Given the description of an element on the screen output the (x, y) to click on. 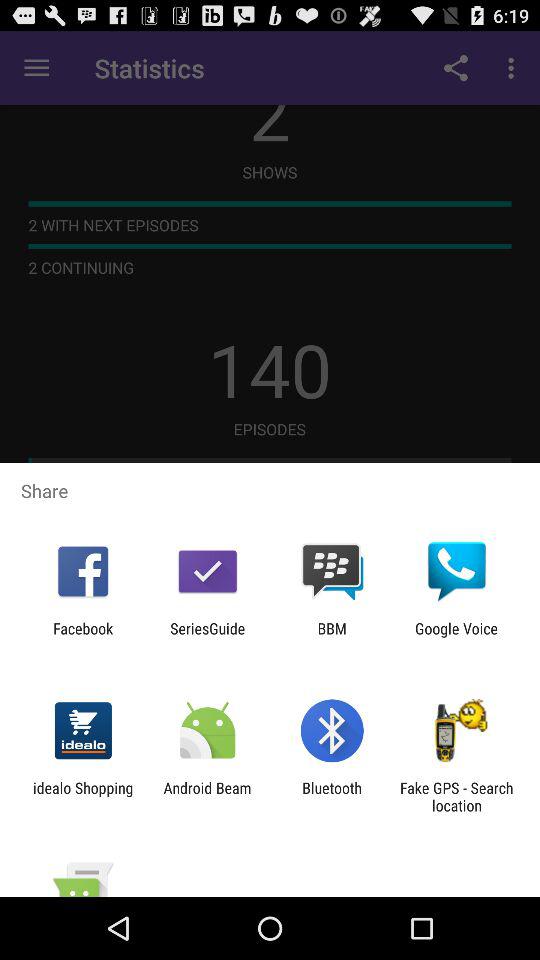
select the icon to the right of the seriesguide (331, 637)
